Given the description of an element on the screen output the (x, y) to click on. 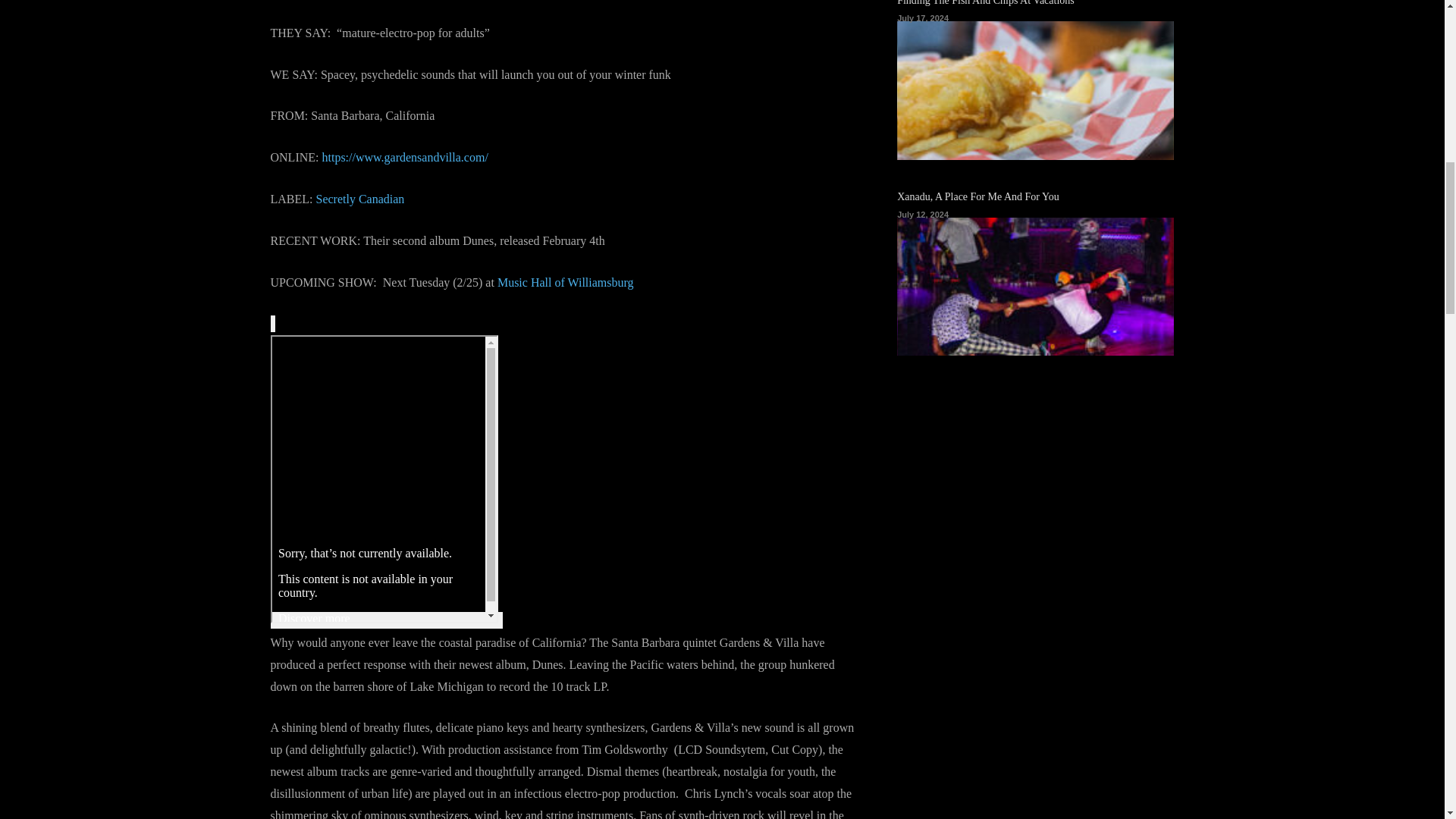
Finding The Fish And Chips At Vacations (985, 2)
Music Hall of Williamsburg (565, 282)
Xanadu, A Place For Me And For You (977, 196)
Secretly Canadian (359, 198)
